Given the description of an element on the screen output the (x, y) to click on. 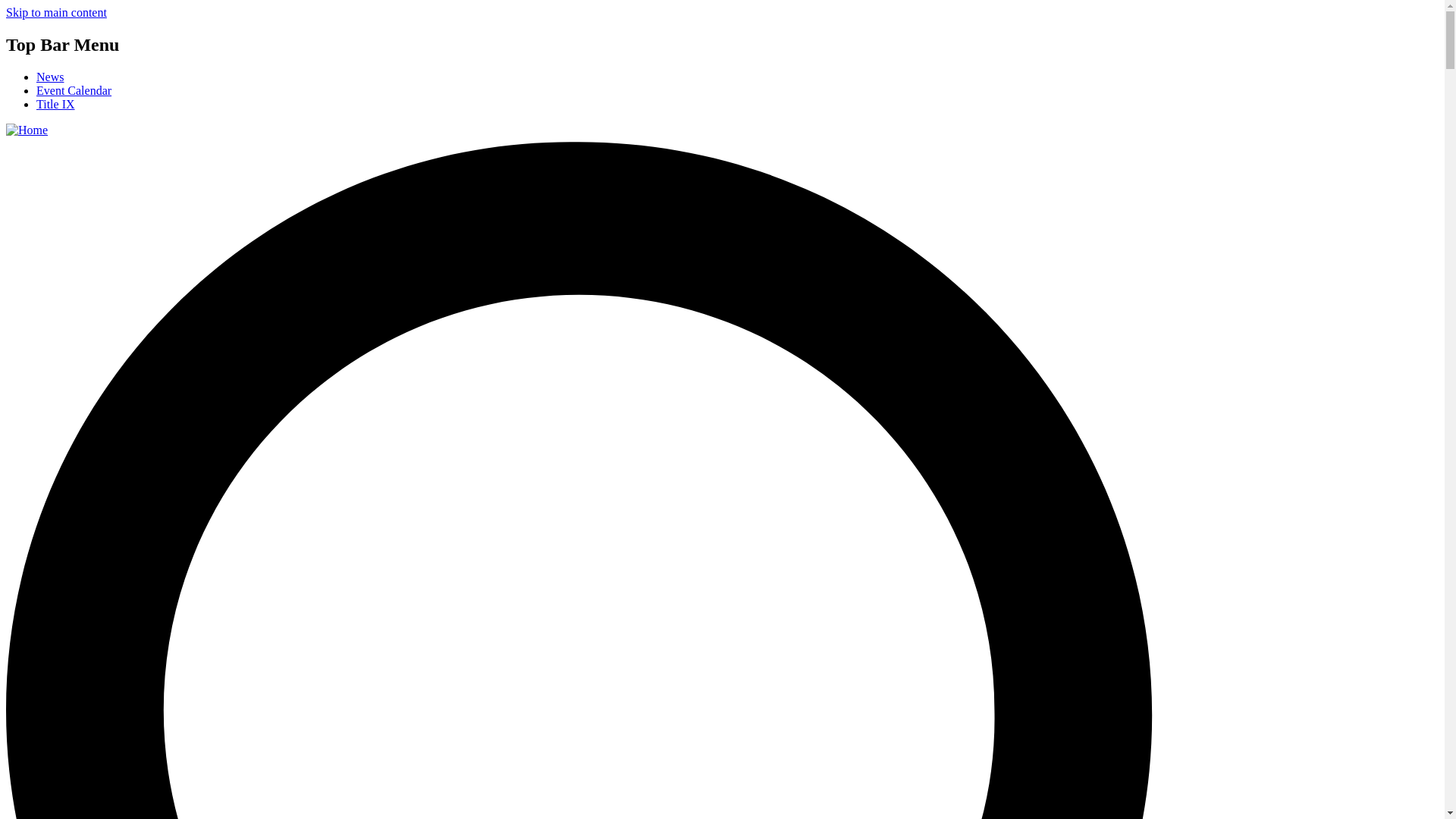
Event Calendar (74, 90)
News (50, 76)
Title IX (55, 103)
Skip to main content (55, 11)
